Given the description of an element on the screen output the (x, y) to click on. 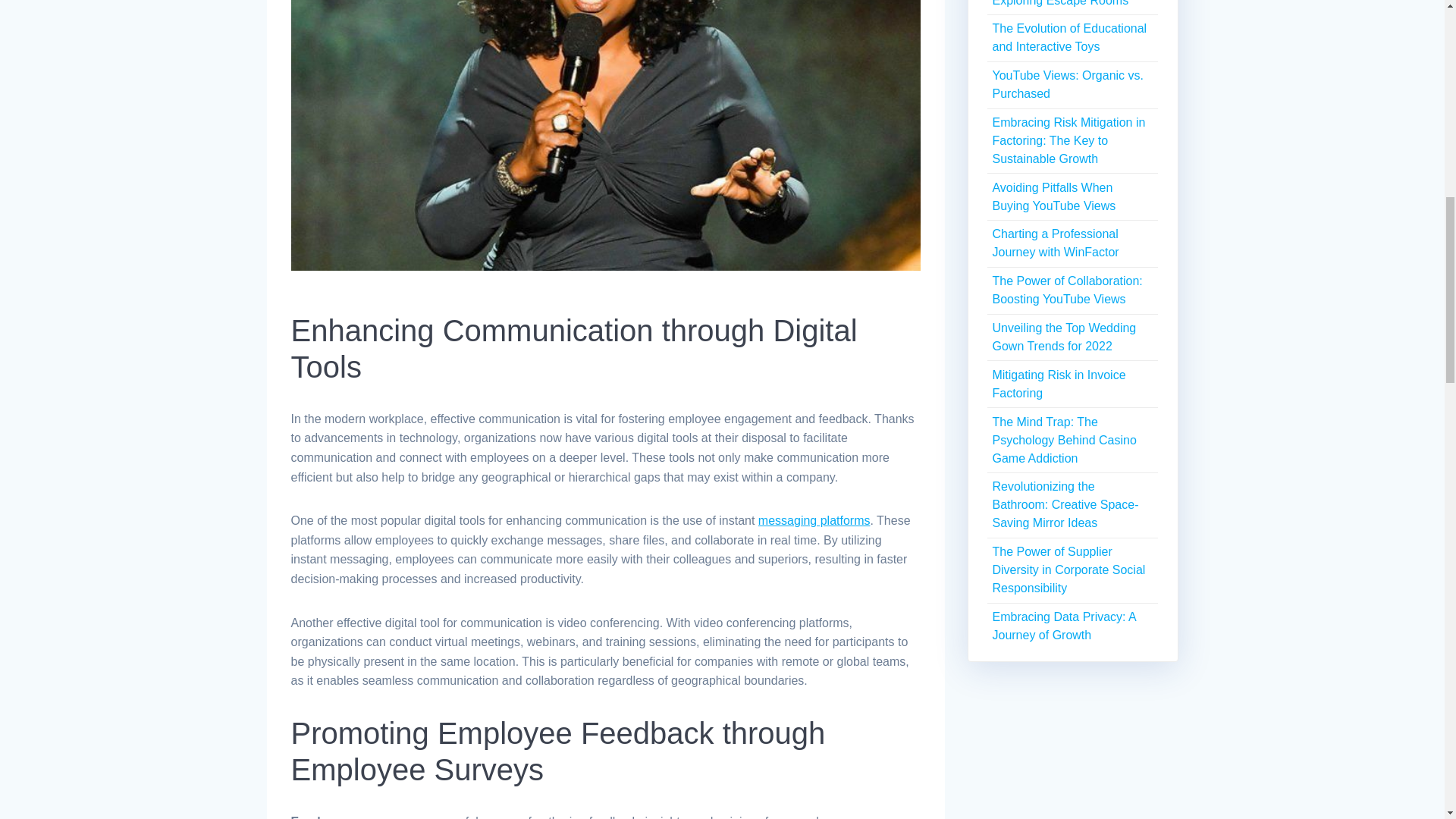
Embracing Data Privacy: A Journey of Growth (1063, 625)
Mitigating Risk in Invoice Factoring (1058, 383)
The Art of Team Building: Exploring Escape Rooms (1059, 3)
YouTube Views: Organic vs. Purchased (1066, 83)
The Mind Trap: The Psychology Behind Casino Game Addiction (1063, 440)
Unveiling the Top Wedding Gown Trends for 2022 (1063, 336)
The Power of Collaboration: Boosting YouTube Views (1066, 289)
The Evolution of Educational and Interactive Toys (1069, 37)
Avoiding Pitfalls When Buying YouTube Views (1053, 196)
Charting a Professional Journey with WinFactor (1054, 242)
messaging platforms (814, 520)
